Given the description of an element on the screen output the (x, y) to click on. 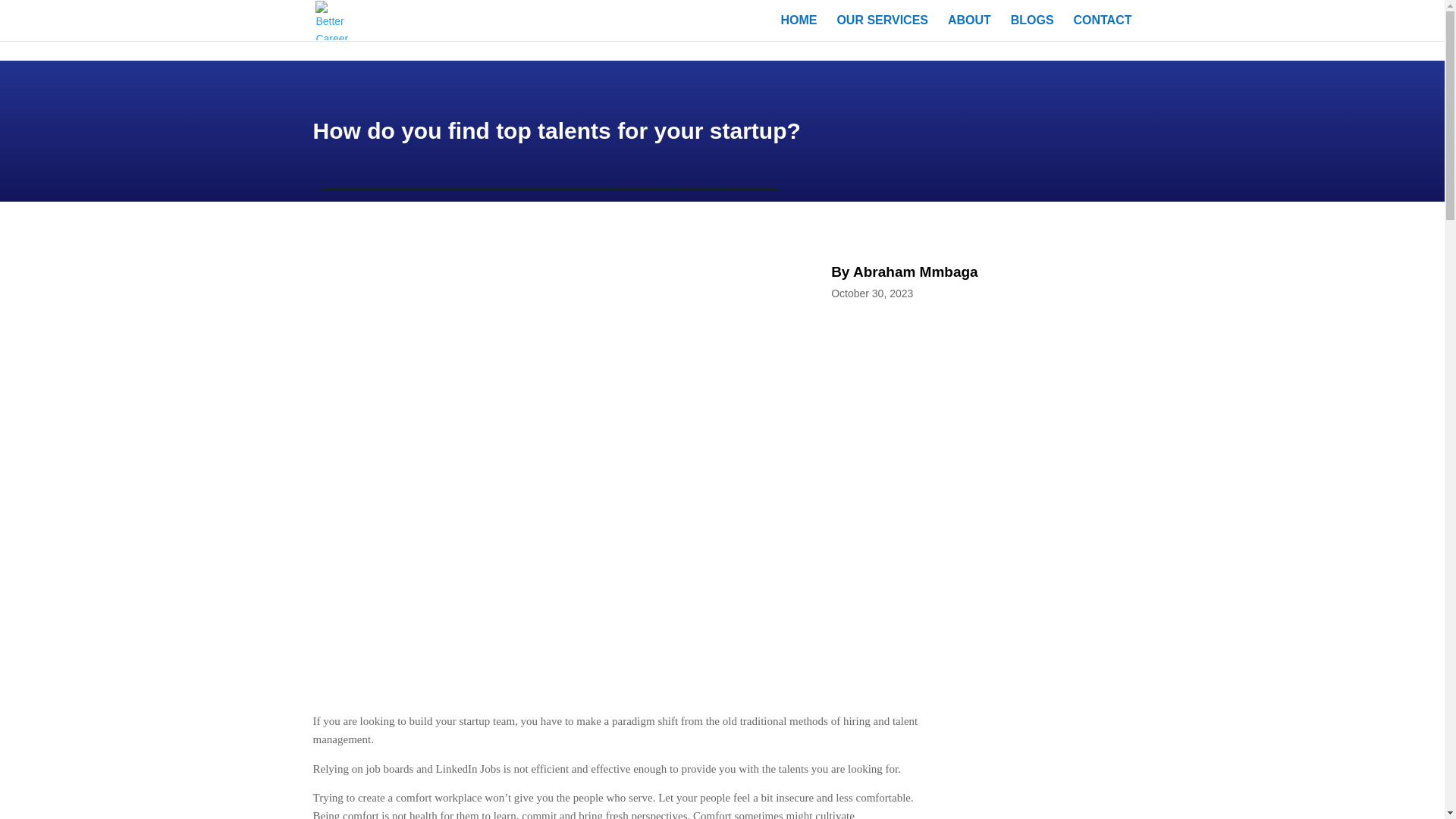
OUR SERVICES (881, 27)
HOME (798, 27)
ABOUT (969, 27)
BLOGS (1032, 27)
CONTACT (1102, 27)
